Given the description of an element on the screen output the (x, y) to click on. 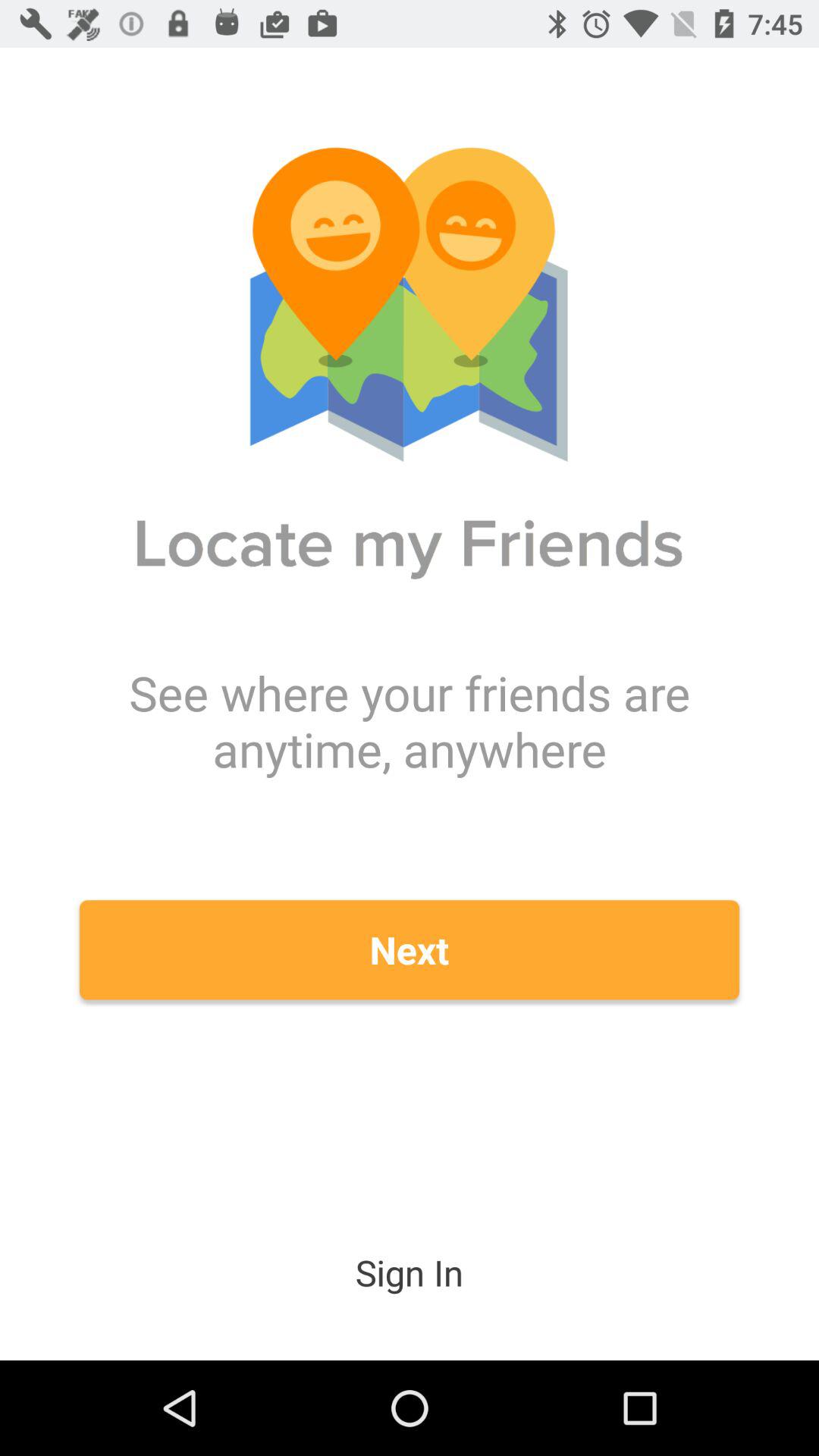
tap next (409, 949)
